Given the description of an element on the screen output the (x, y) to click on. 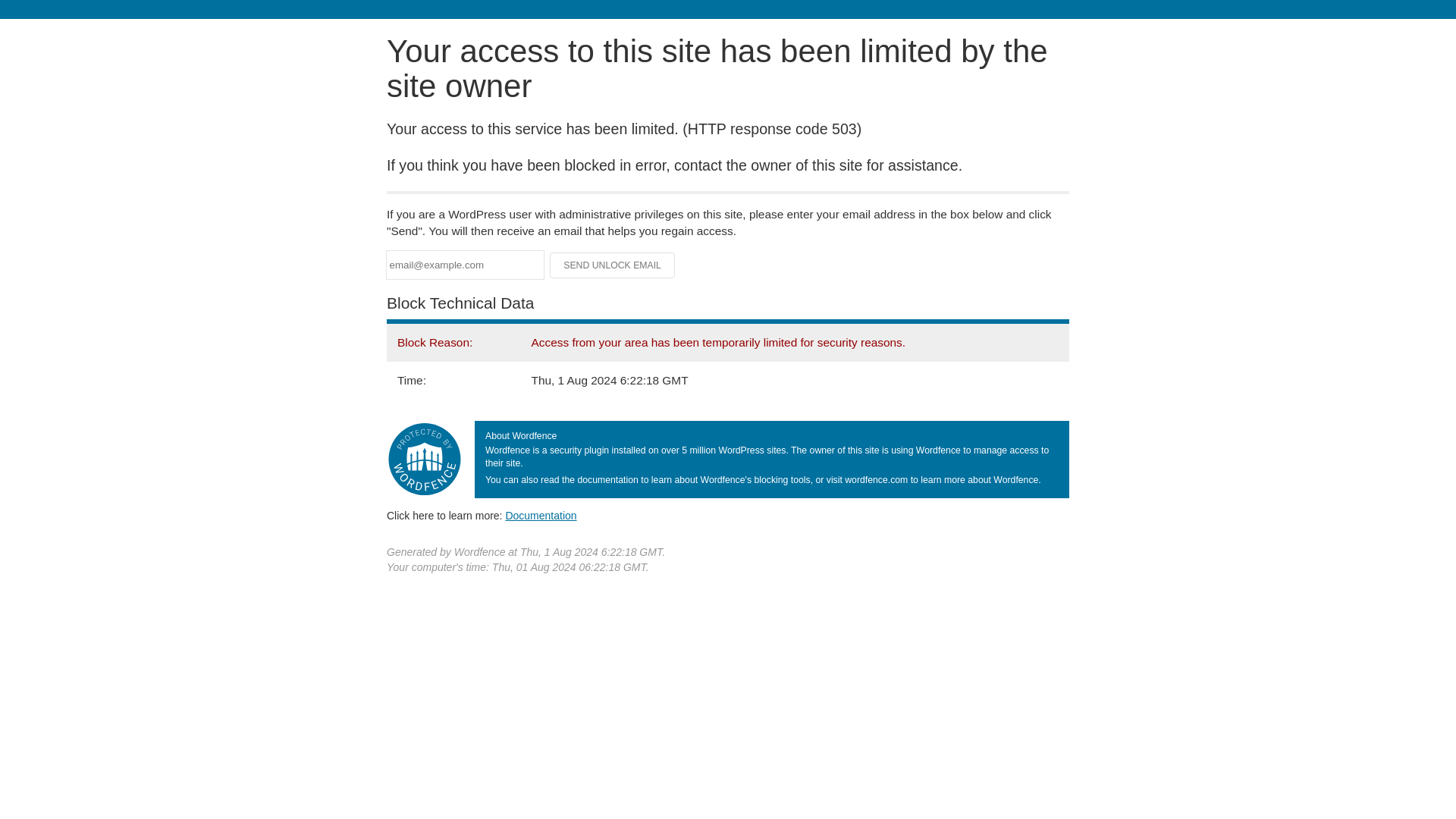
Send Unlock Email (612, 265)
Documentation (540, 515)
Send Unlock Email (612, 265)
